Given the description of an element on the screen output the (x, y) to click on. 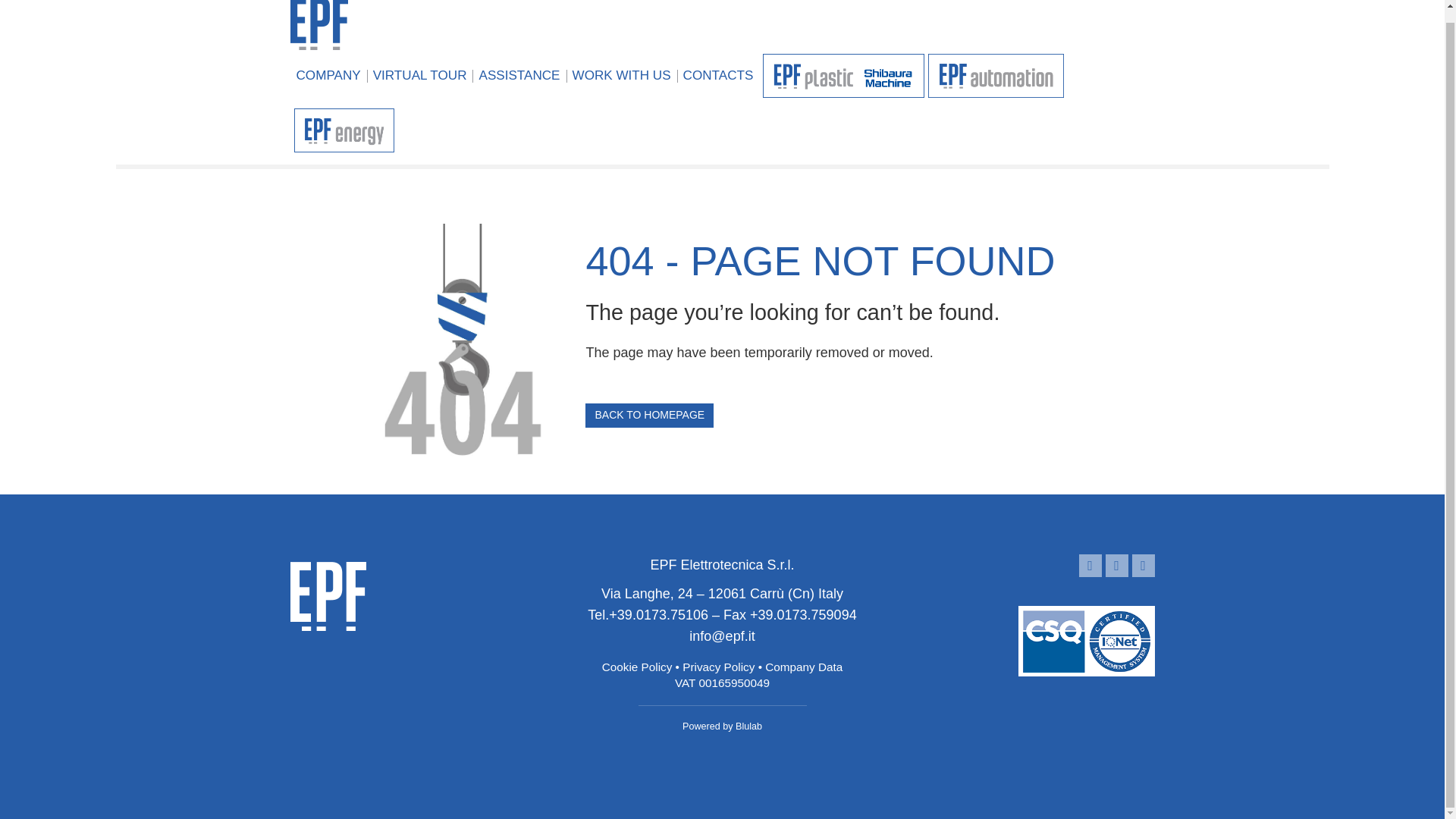
CONTACTS (718, 77)
EPF (318, 24)
ASSISTANCE (519, 77)
Company Data (804, 666)
BACK TO HOMEPAGE (649, 415)
AUTOMATION (996, 76)
WORK WITH US (621, 77)
VIRTUAL TOUR (419, 77)
COMPANY (327, 77)
Cookie Policy (637, 666)
